Given the description of an element on the screen output the (x, y) to click on. 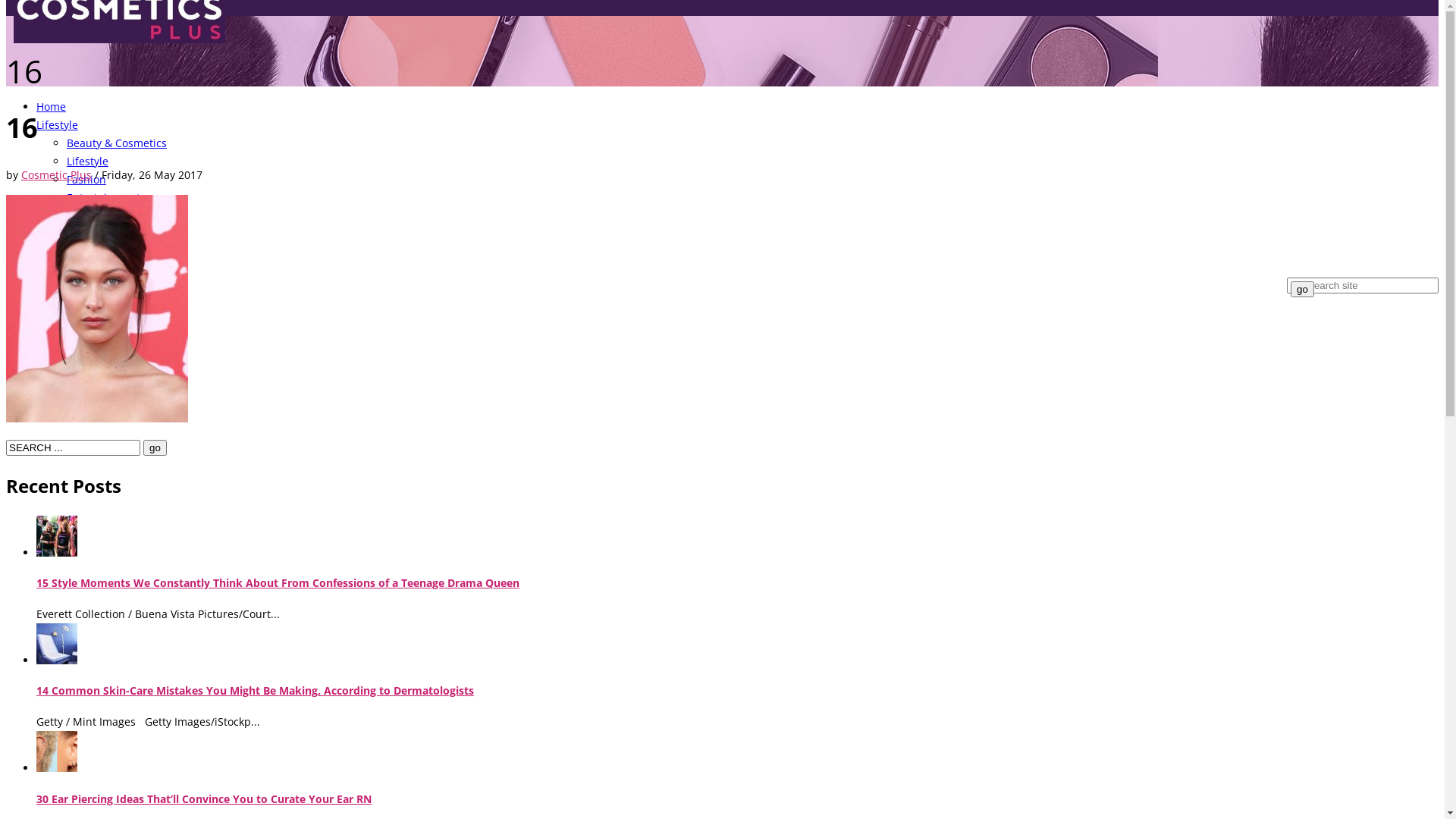
go Element type: text (1302, 289)
Cosmetic Plus Element type: text (56, 174)
Piercings Element type: text (59, 233)
Fashion Element type: text (86, 179)
Lifestyle Element type: text (57, 124)
Pinterest Element type: hover (45, 286)
Entertainment Element type: text (103, 197)
Instagram Element type: hover (68, 286)
Beauty & Cosmetics Element type: text (116, 142)
Store Locations Element type: text (74, 251)
BYS Element type: text (45, 215)
Facebook Element type: hover (19, 286)
Home Element type: text (50, 106)
go Element type: text (154, 447)
Lifestyle Element type: text (87, 160)
